Given the description of an element on the screen output the (x, y) to click on. 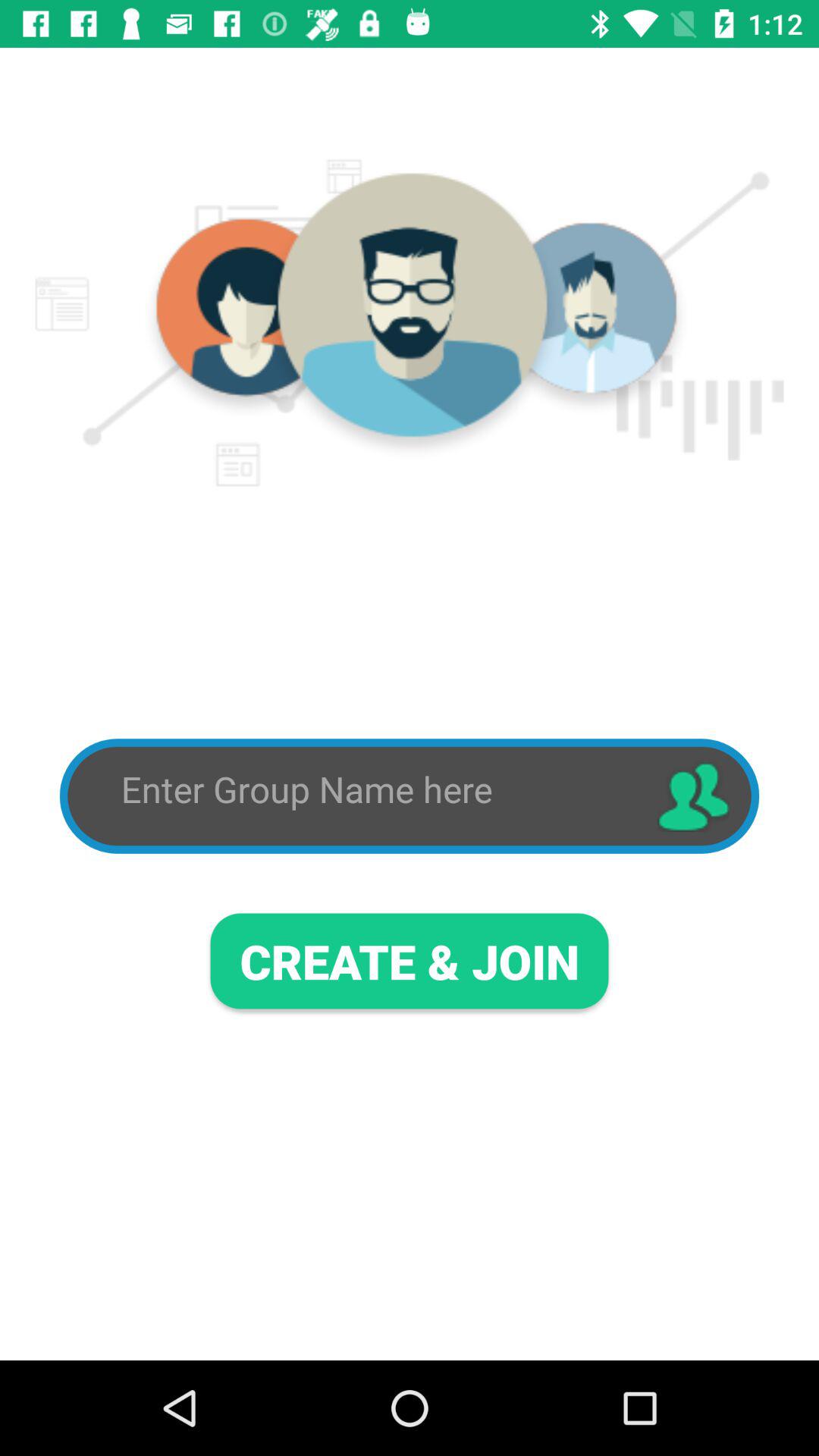
enter group name here (374, 790)
